Given the description of an element on the screen output the (x, y) to click on. 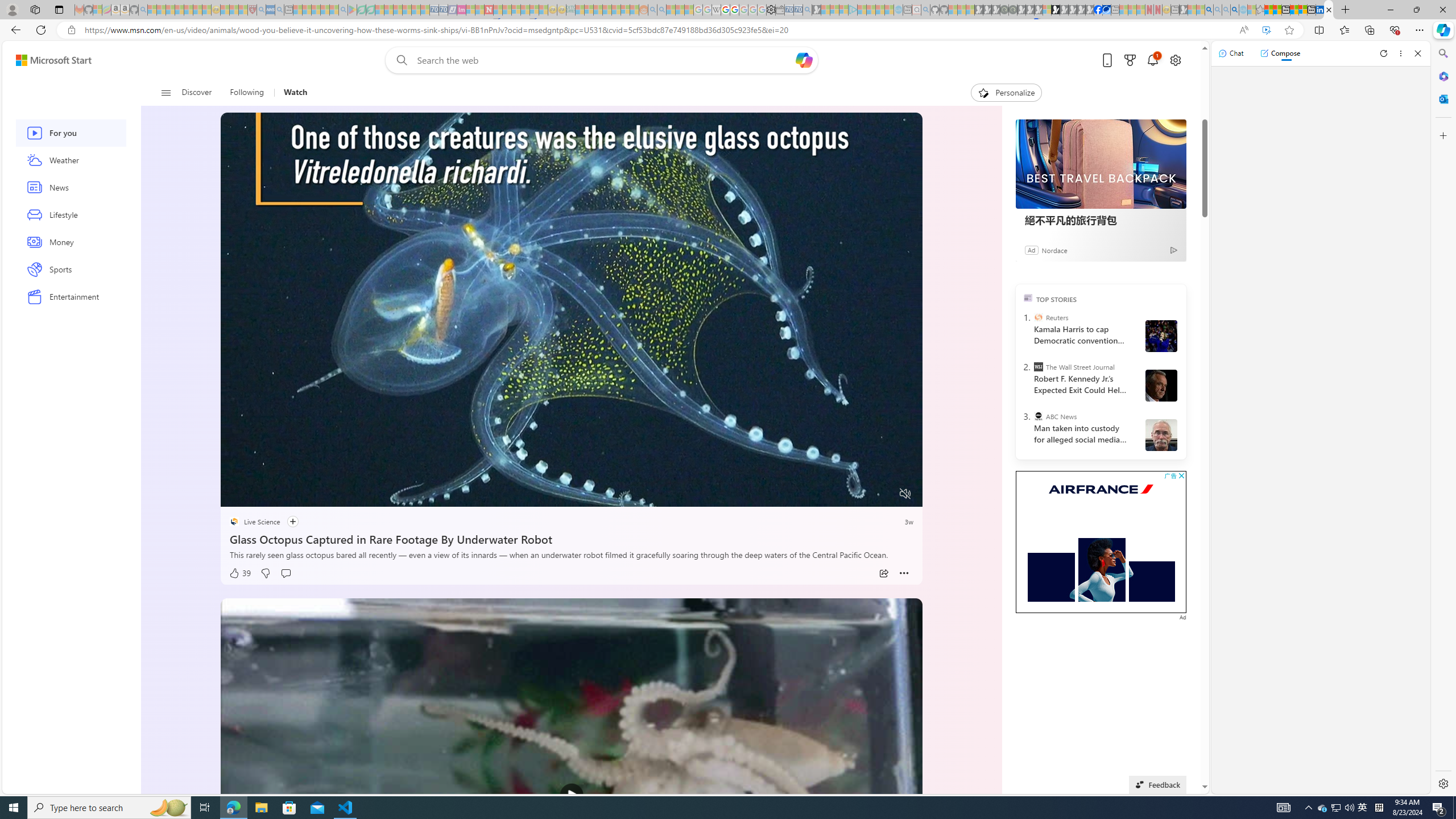
Sign in to your account - Sleeping (1046, 9)
Wallet - Sleeping (779, 9)
Terms of Use Agreement - Sleeping (361, 9)
